Given the description of an element on the screen output the (x, y) to click on. 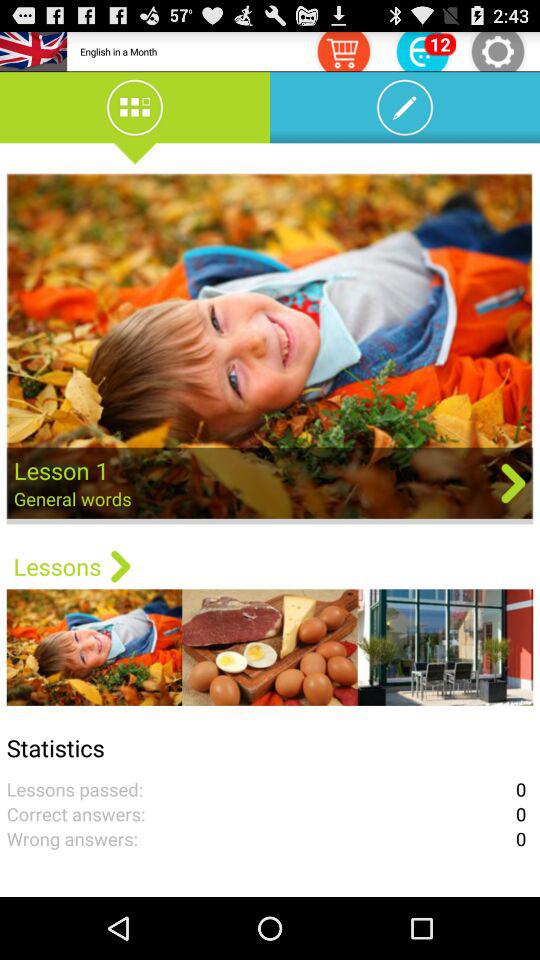
lesson (269, 348)
